Given the description of an element on the screen output the (x, y) to click on. 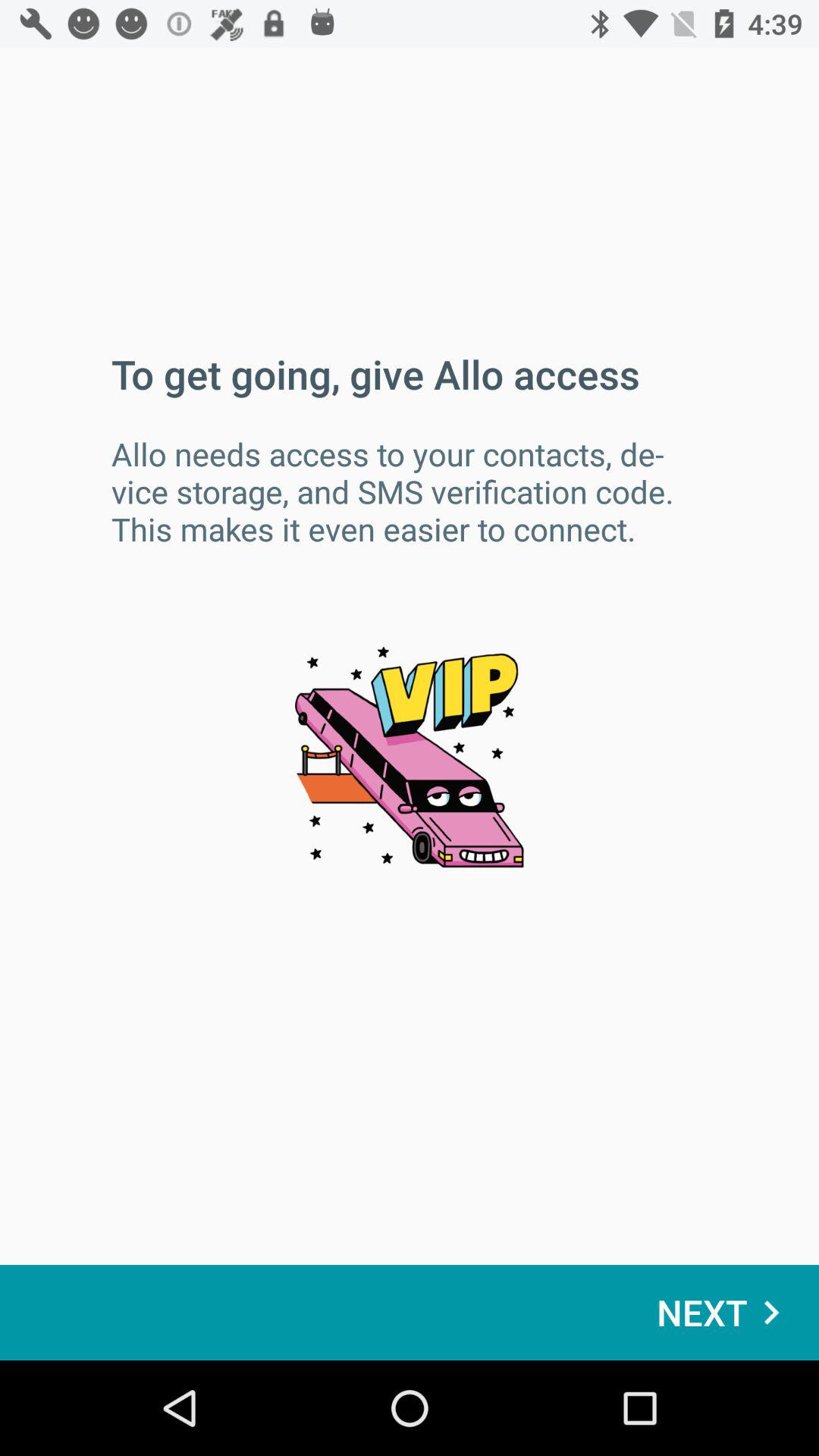
open next icon (726, 1312)
